Given the description of an element on the screen output the (x, y) to click on. 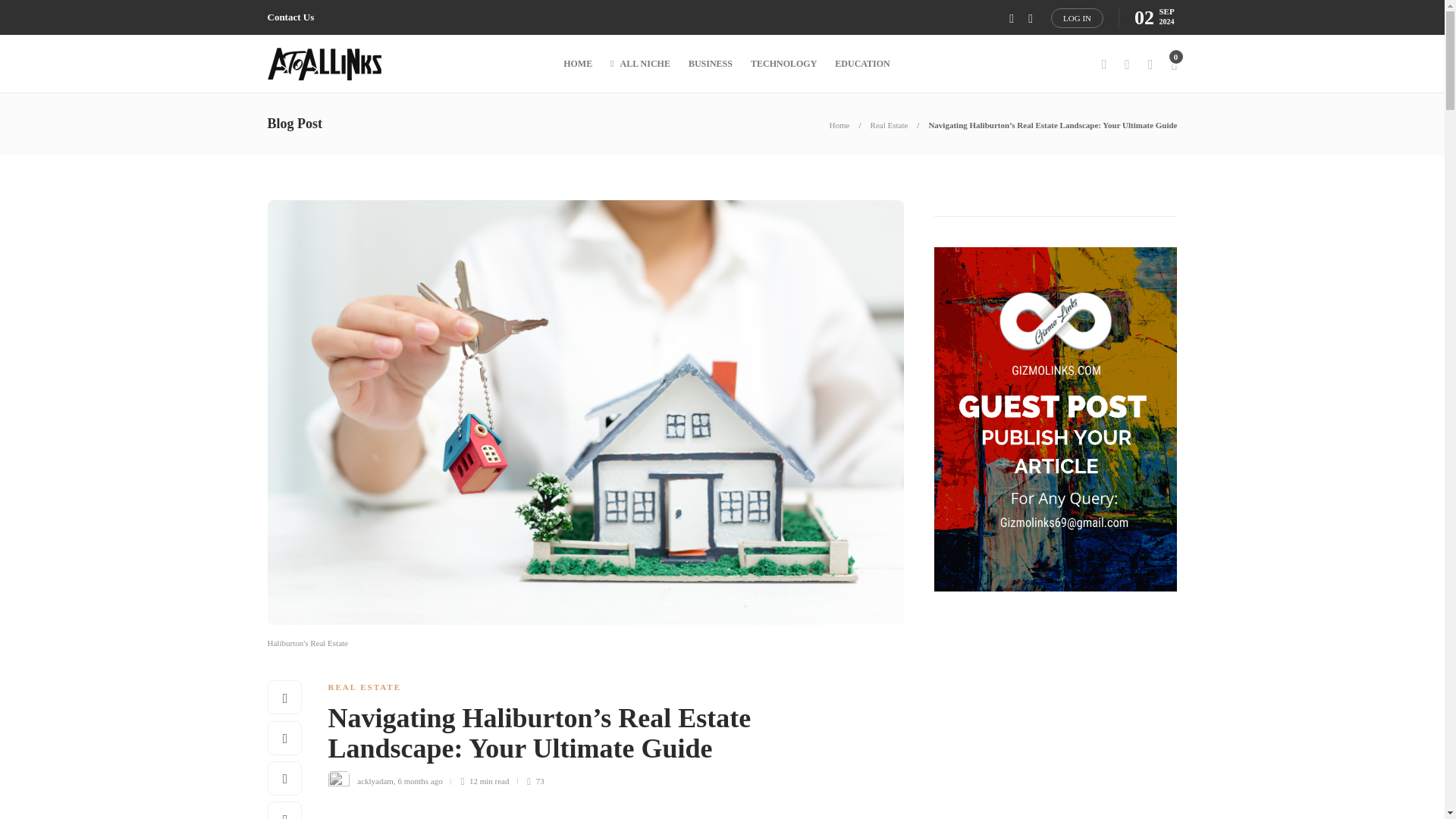
Home (839, 124)
acklyadam (374, 780)
Real Estate (889, 124)
TECHNOLOGY (783, 63)
ALL NICHE (639, 63)
Home (839, 124)
Contact Us (290, 17)
REAL ESTATE (363, 686)
EDUCATION (861, 63)
LOG IN (1077, 17)
